Given the description of an element on the screen output the (x, y) to click on. 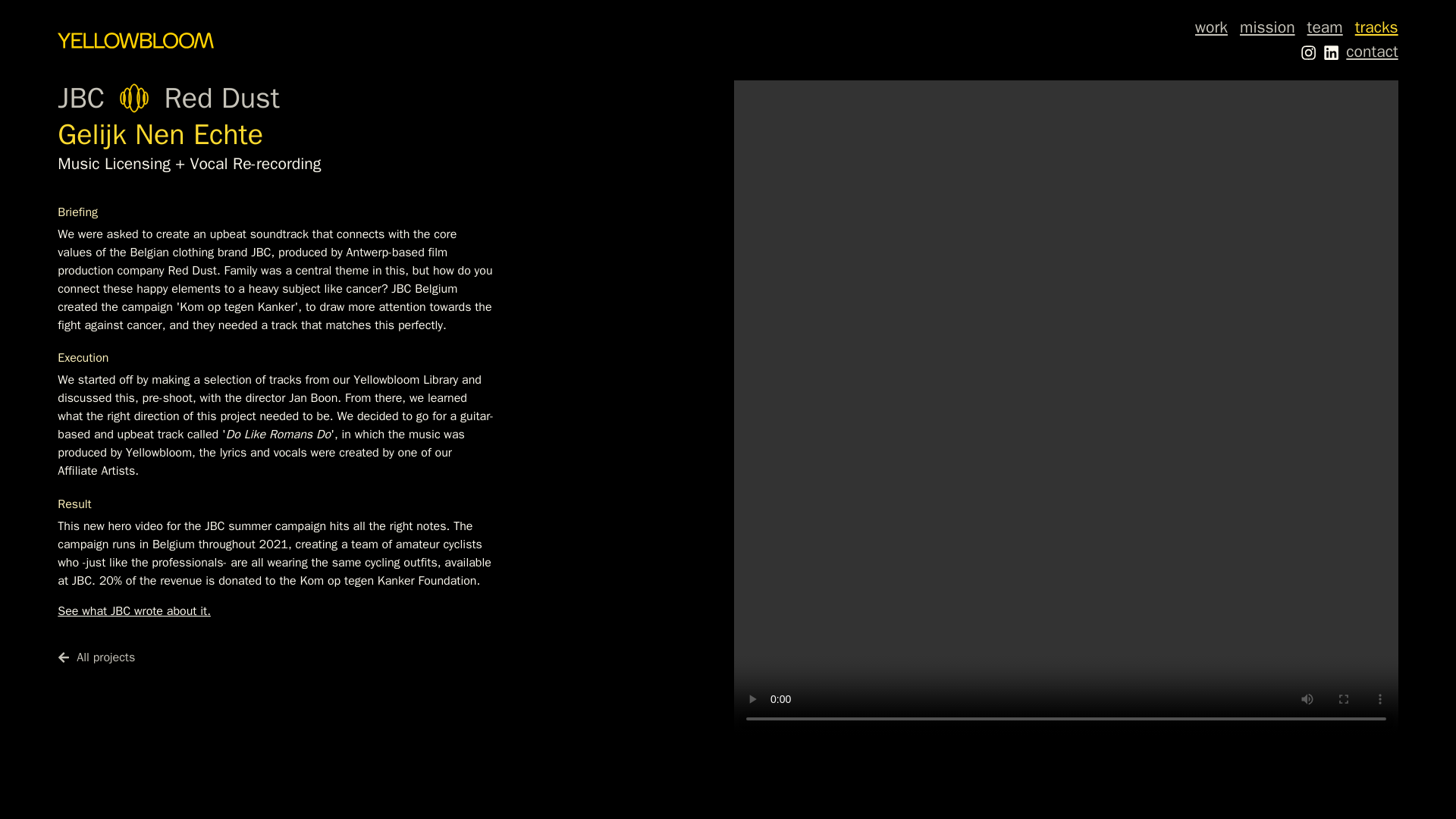
linkedin (1331, 52)
See what JBC wrote about it. (134, 611)
All projects (390, 657)
team (1324, 26)
work (1211, 26)
Yellowbloom (135, 39)
instagram (1308, 52)
mission (1267, 26)
